Given the description of an element on the screen output the (x, y) to click on. 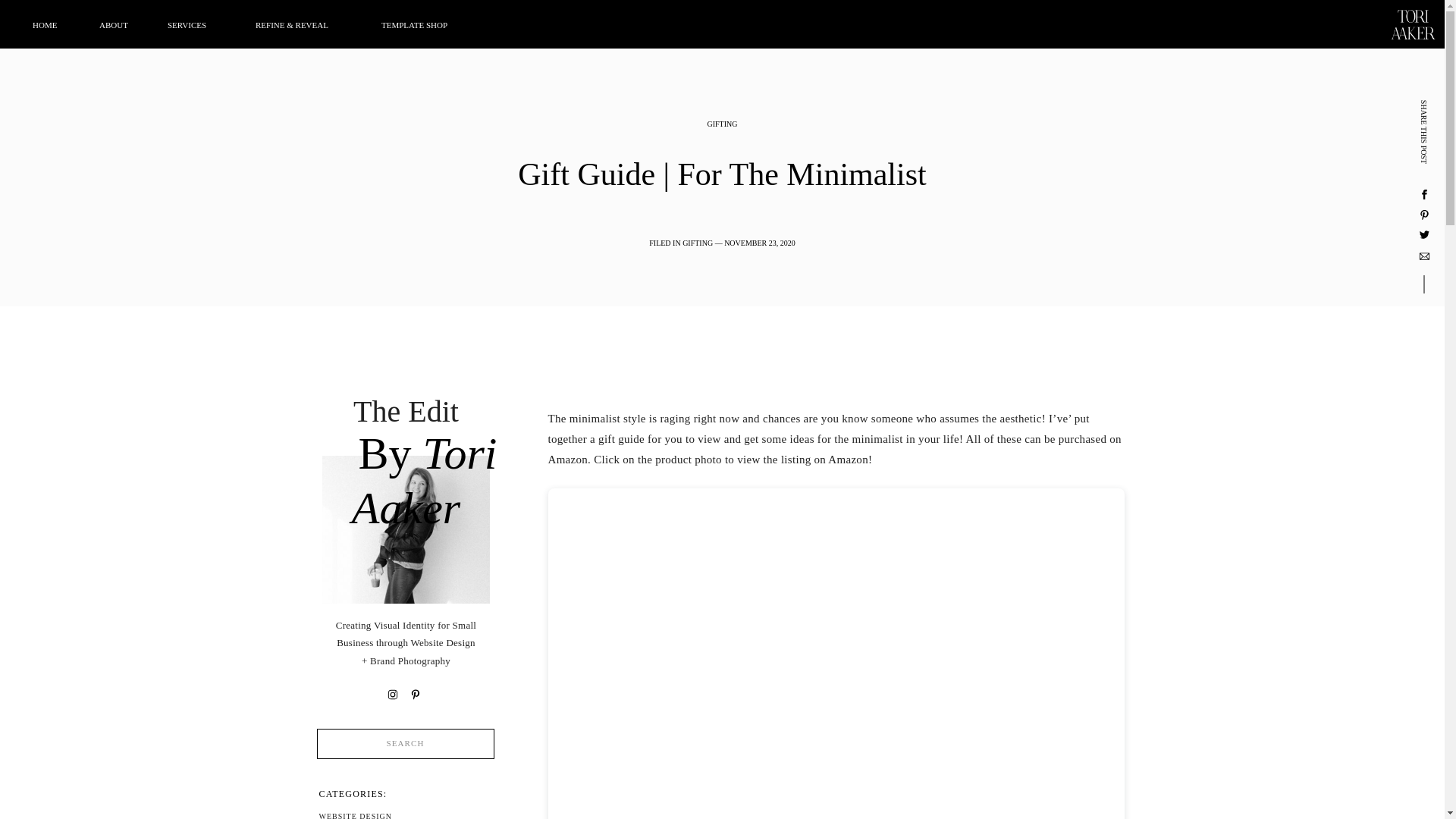
ABOUT (119, 27)
TEMPLATE SHOP (432, 27)
GIFTING (721, 123)
HOME (50, 27)
GIFTING (697, 243)
WEBSITE DESIGN (407, 815)
SERVICES (197, 27)
